Given the description of an element on the screen output the (x, y) to click on. 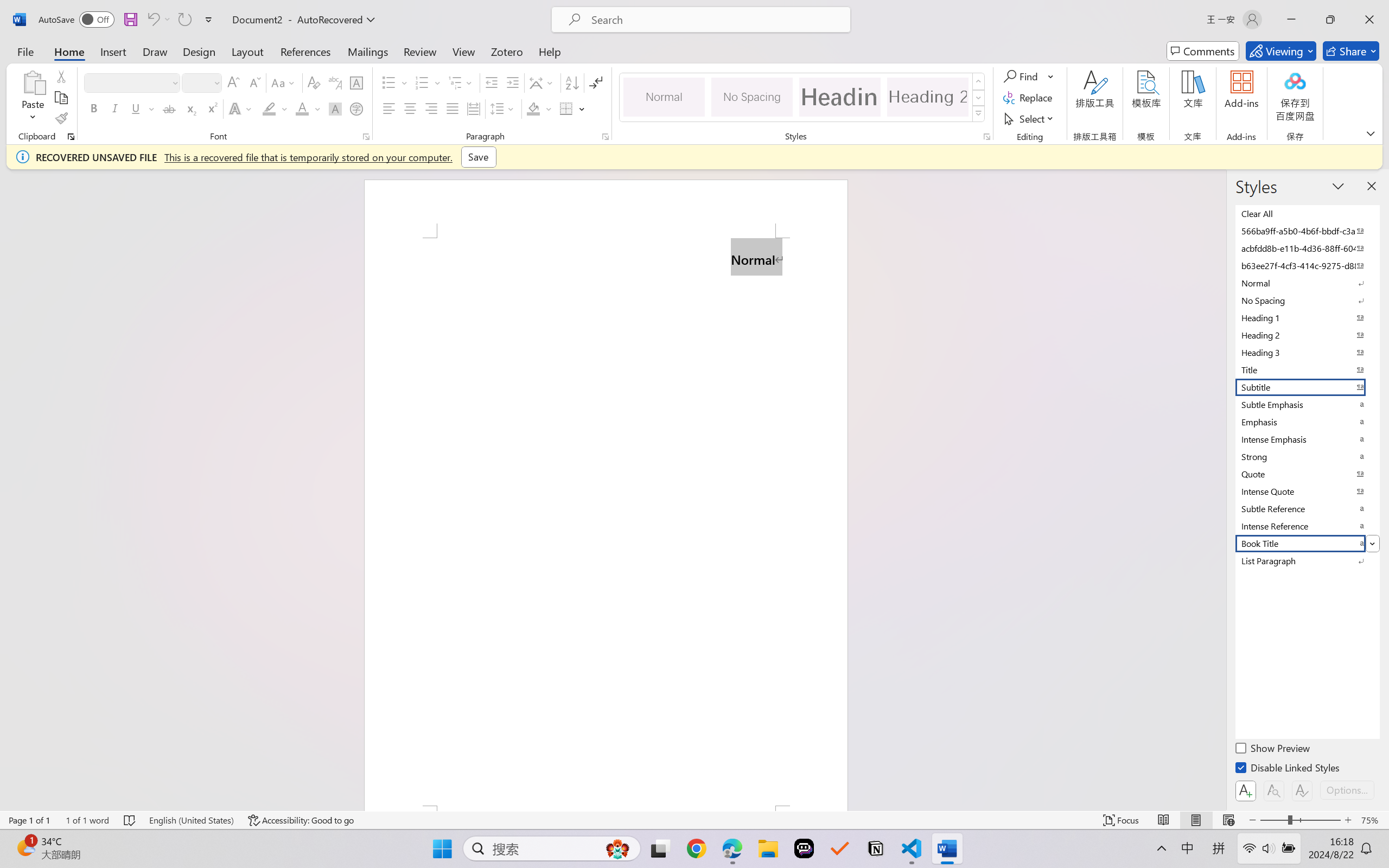
Microsoft search (715, 19)
Class: MsoCommandBar (694, 819)
Font Color (308, 108)
Open (215, 82)
Row up (978, 81)
Line and Paragraph Spacing (503, 108)
Phonetic Guide... (334, 82)
Options... (1346, 789)
Strong (1306, 456)
